Given the description of an element on the screen output the (x, y) to click on. 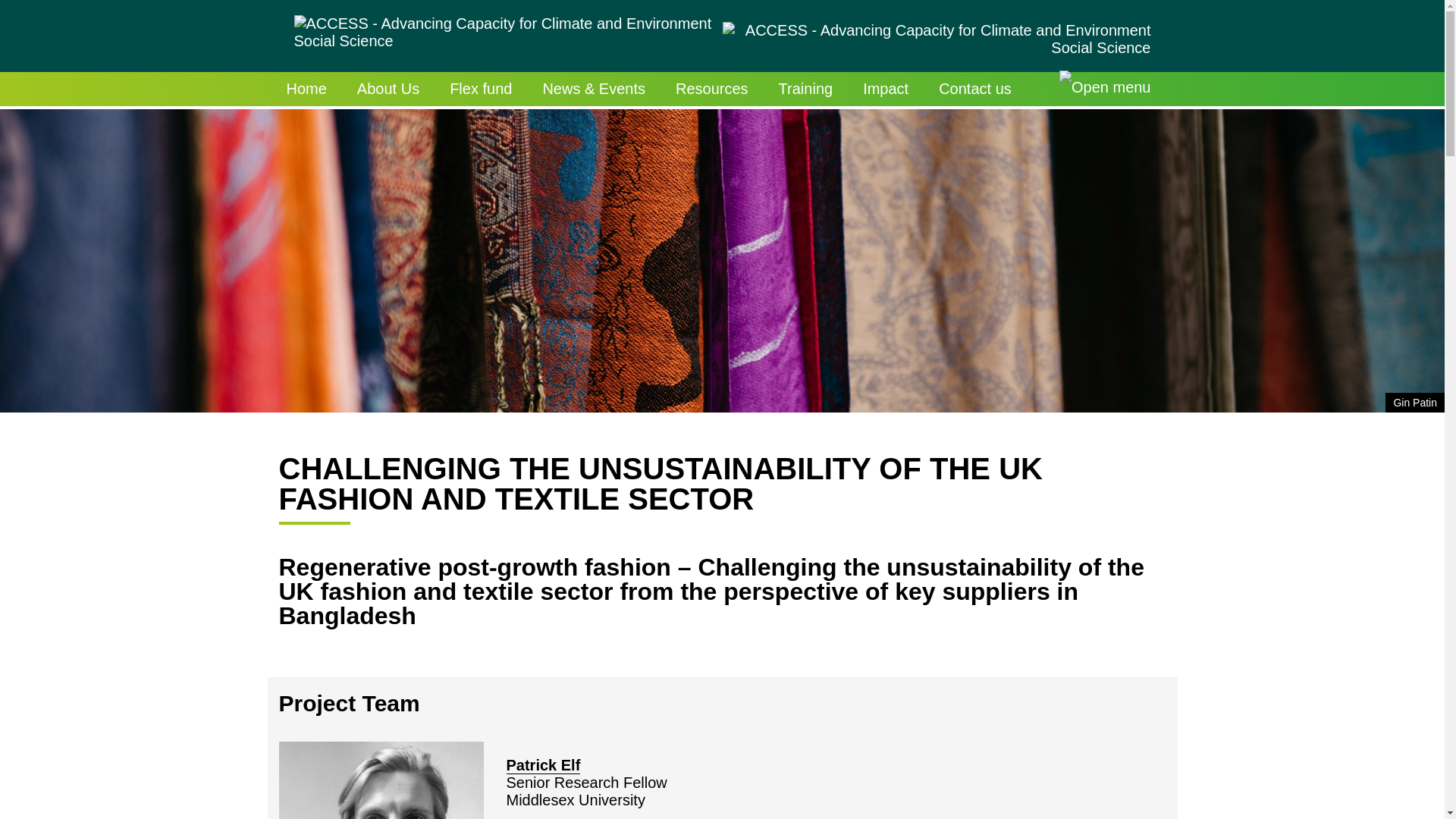
About Us (387, 89)
Flex fund (480, 89)
Contact us (974, 89)
Patrick Elf (543, 764)
Training (805, 89)
Home (306, 89)
Resources (711, 89)
Impact (885, 89)
Toggle navigation (1104, 89)
